Given the description of an element on the screen output the (x, y) to click on. 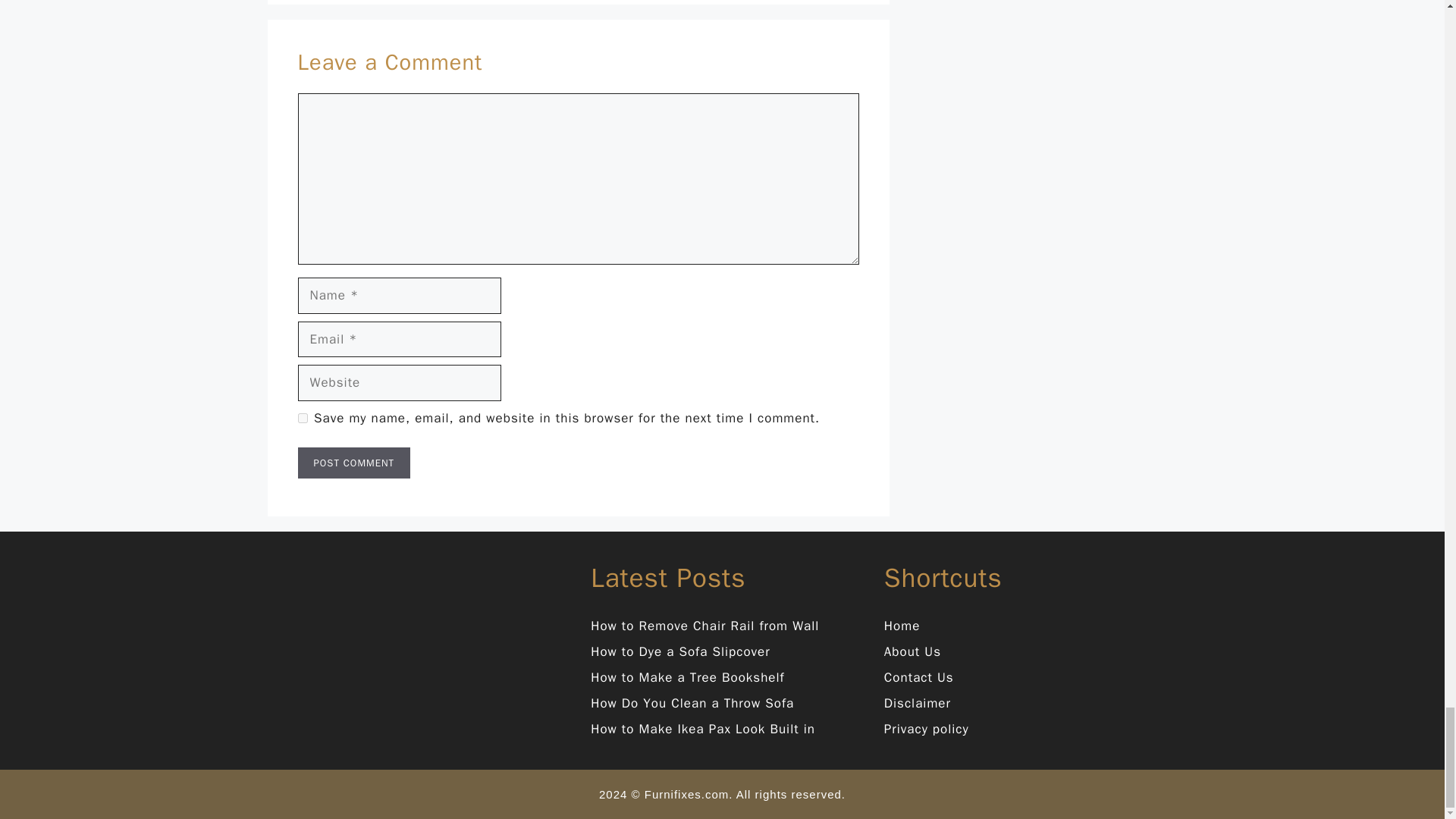
Post Comment (353, 463)
Post Comment (353, 463)
yes (302, 418)
